Given the description of an element on the screen output the (x, y) to click on. 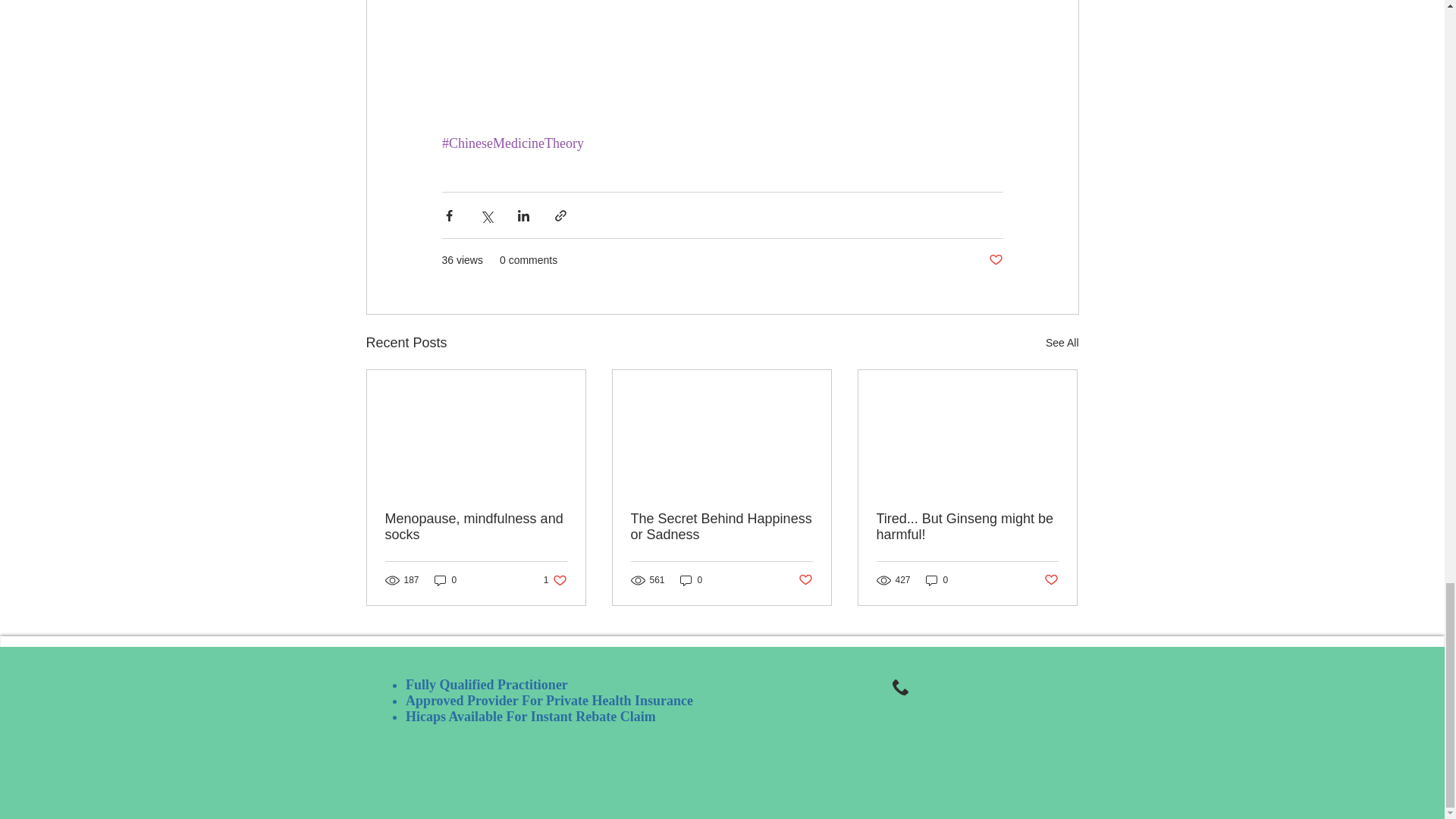
See All (1061, 342)
0 (555, 580)
Post not marked as liked (445, 580)
Menopause, mindfulness and socks (995, 260)
